Given the description of an element on the screen output the (x, y) to click on. 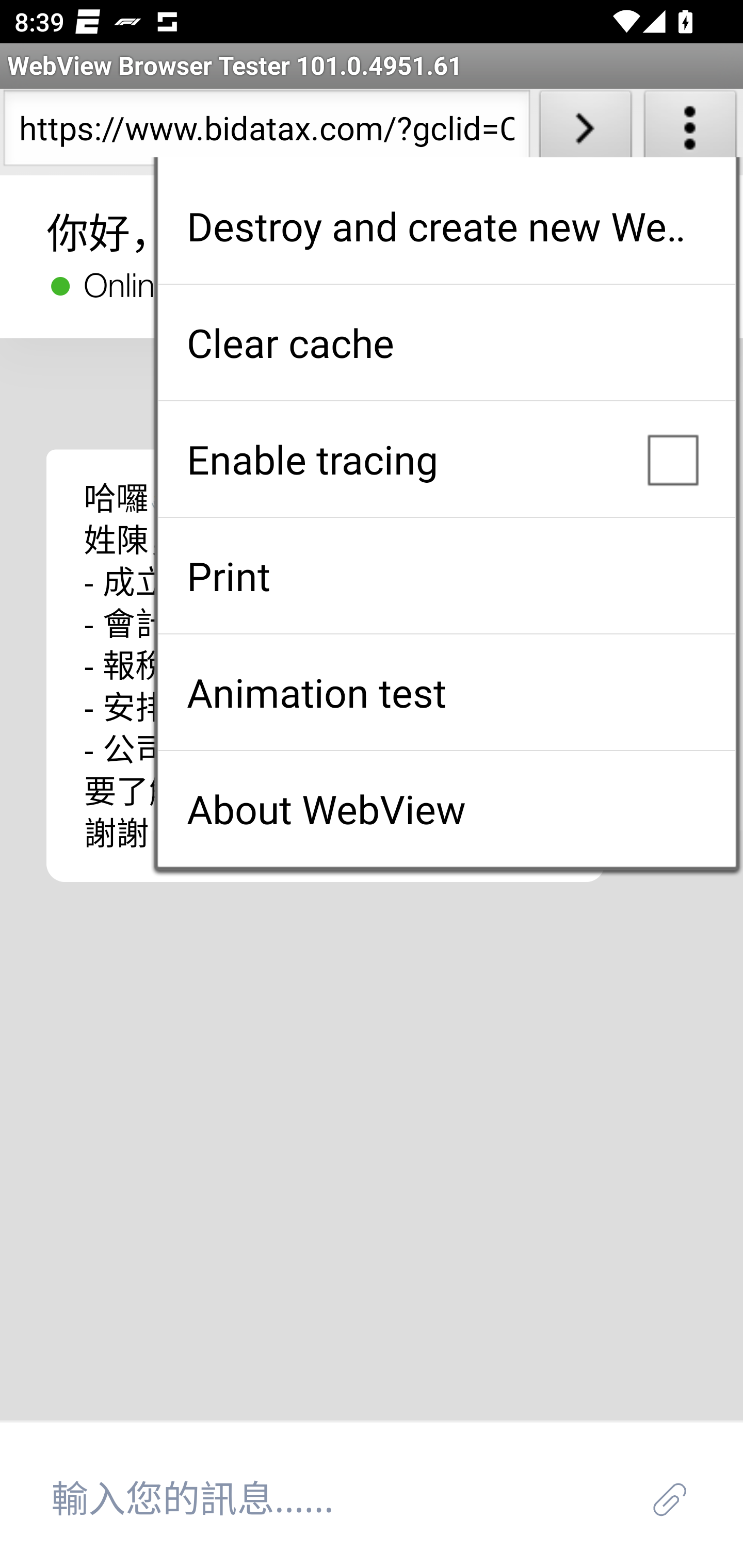
Destroy and create new WebView (446, 225)
Clear cache (446, 342)
Enable tracing (446, 459)
Print (446, 575)
Animation test (446, 692)
About WebView (446, 809)
